Given the description of an element on the screen output the (x, y) to click on. 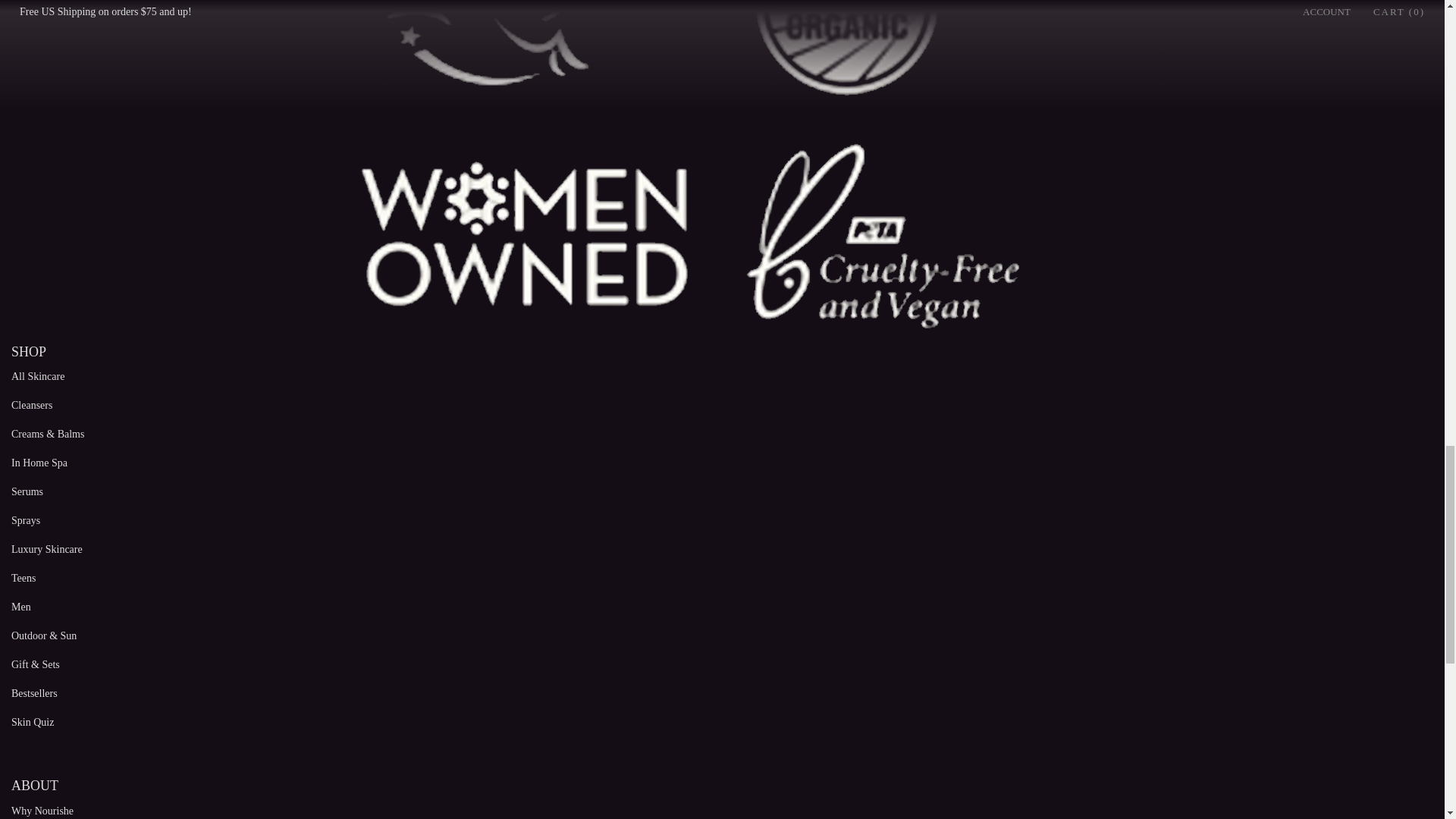
Men (20, 606)
Why Nourishe (42, 810)
All Skincare (37, 376)
Skin Quiz (32, 722)
Bestsellers (34, 693)
Cleansers (31, 405)
Teens (22, 577)
In Home Spa (38, 462)
Serums (27, 491)
Luxury Skincare (46, 549)
Sprays (25, 520)
